Given the description of an element on the screen output the (x, y) to click on. 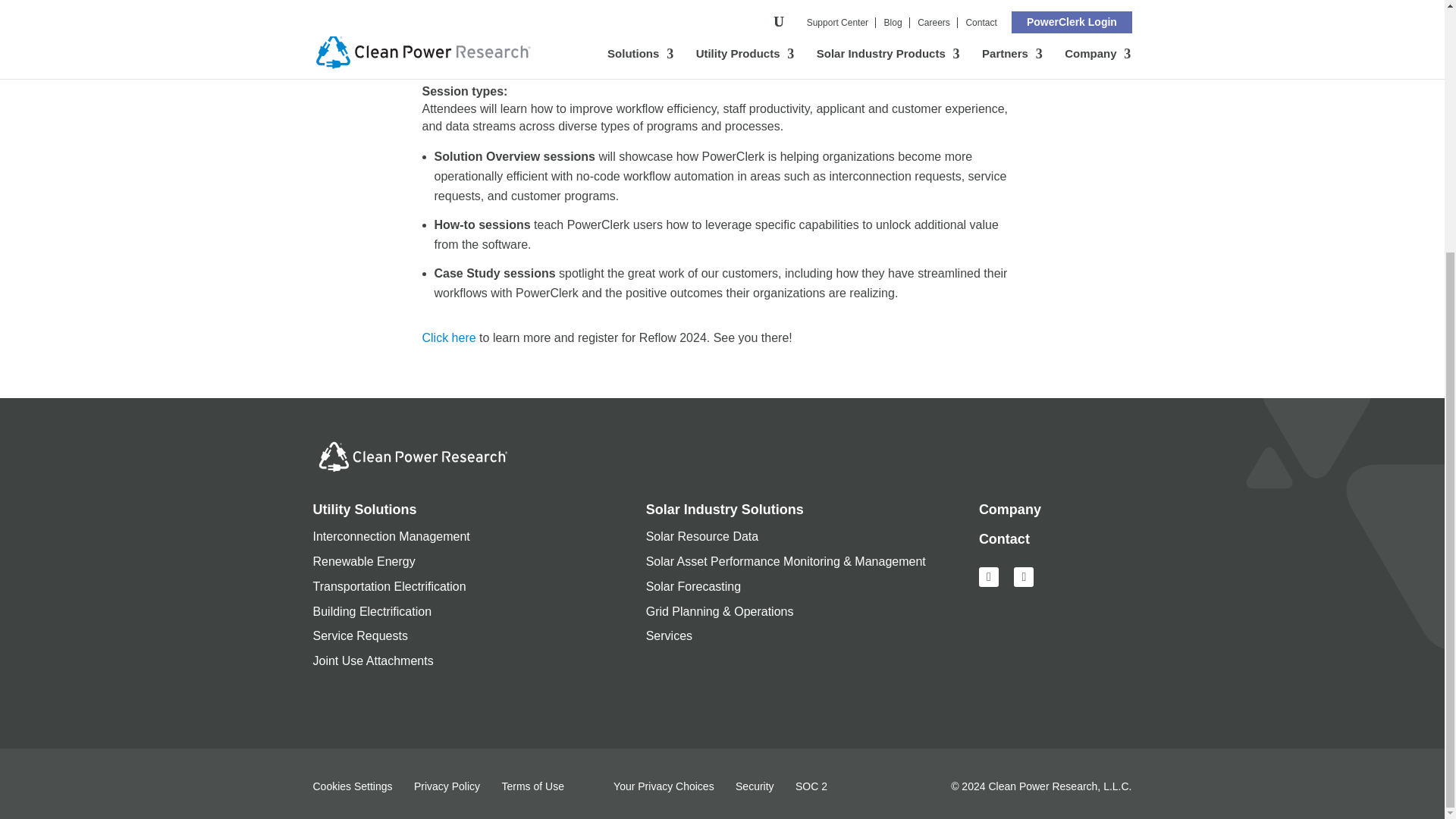
Privacy Opt-Out (649, 786)
Twitter (1023, 575)
Instagram (988, 575)
Clean Power Research (1059, 786)
